Given the description of an element on the screen output the (x, y) to click on. 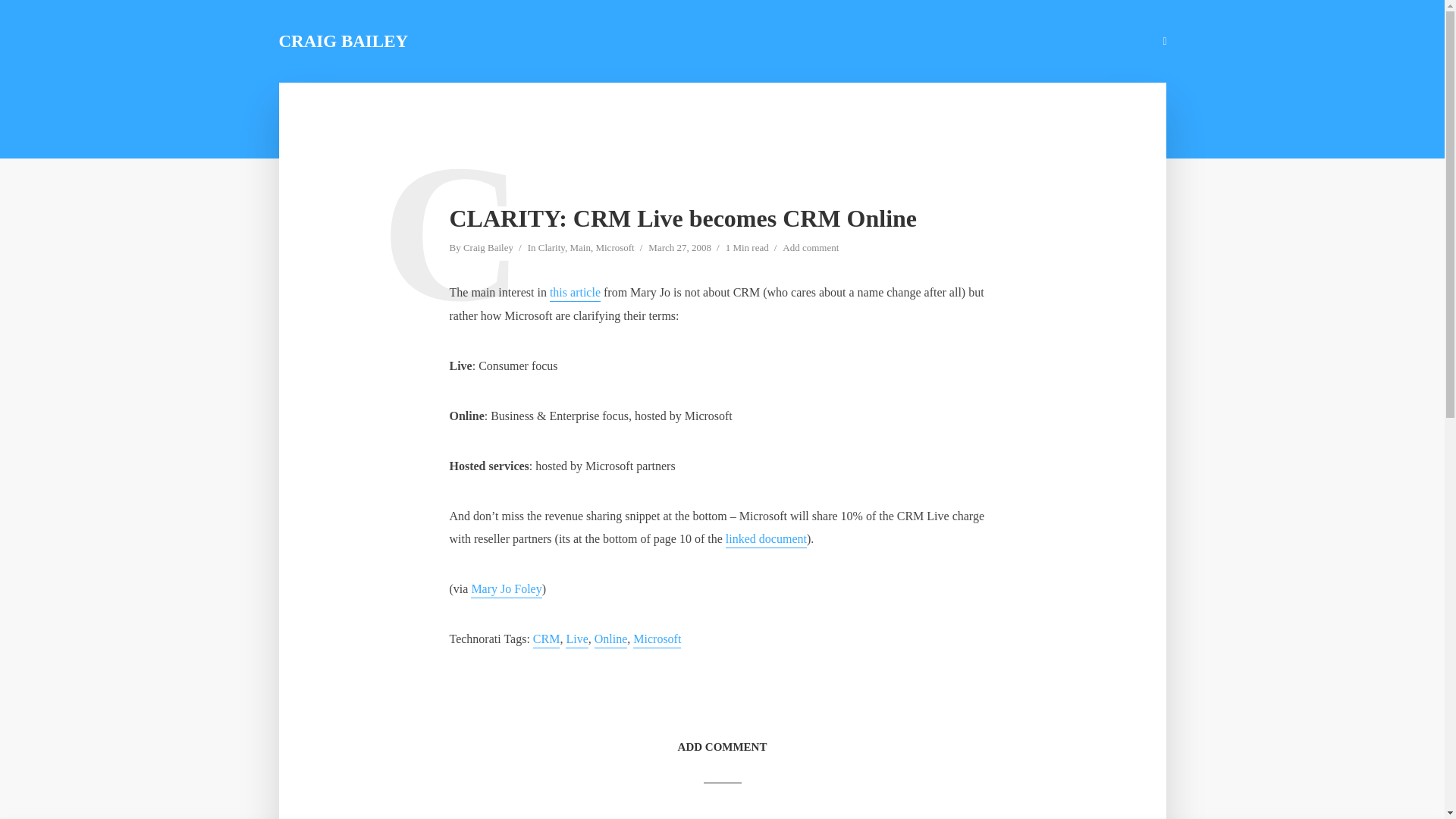
this article (574, 293)
linked document (765, 539)
CRM (546, 640)
Clarity (551, 248)
Microsoft (657, 640)
Add comment (810, 248)
CRAIG BAILEY (344, 40)
Mary Jo Foley (505, 590)
Microsoft (614, 248)
Online (610, 640)
Craig Bailey (488, 248)
Live (577, 640)
Main (579, 248)
